Given the description of an element on the screen output the (x, y) to click on. 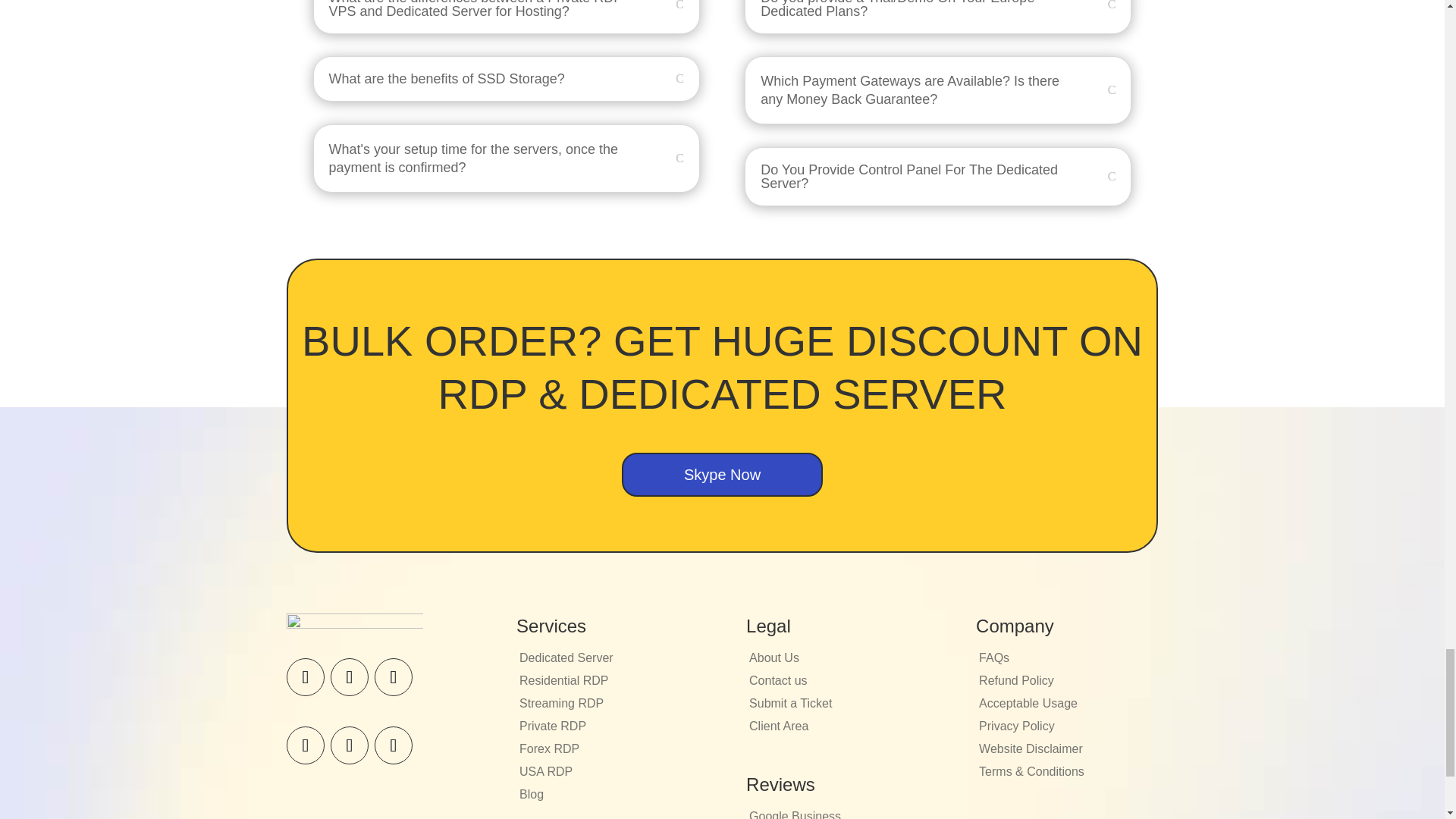
Follow on skype (305, 745)
Follow on X (349, 677)
Follow on Facebook (305, 677)
Follow on Pinterest (393, 677)
